Given the description of an element on the screen output the (x, y) to click on. 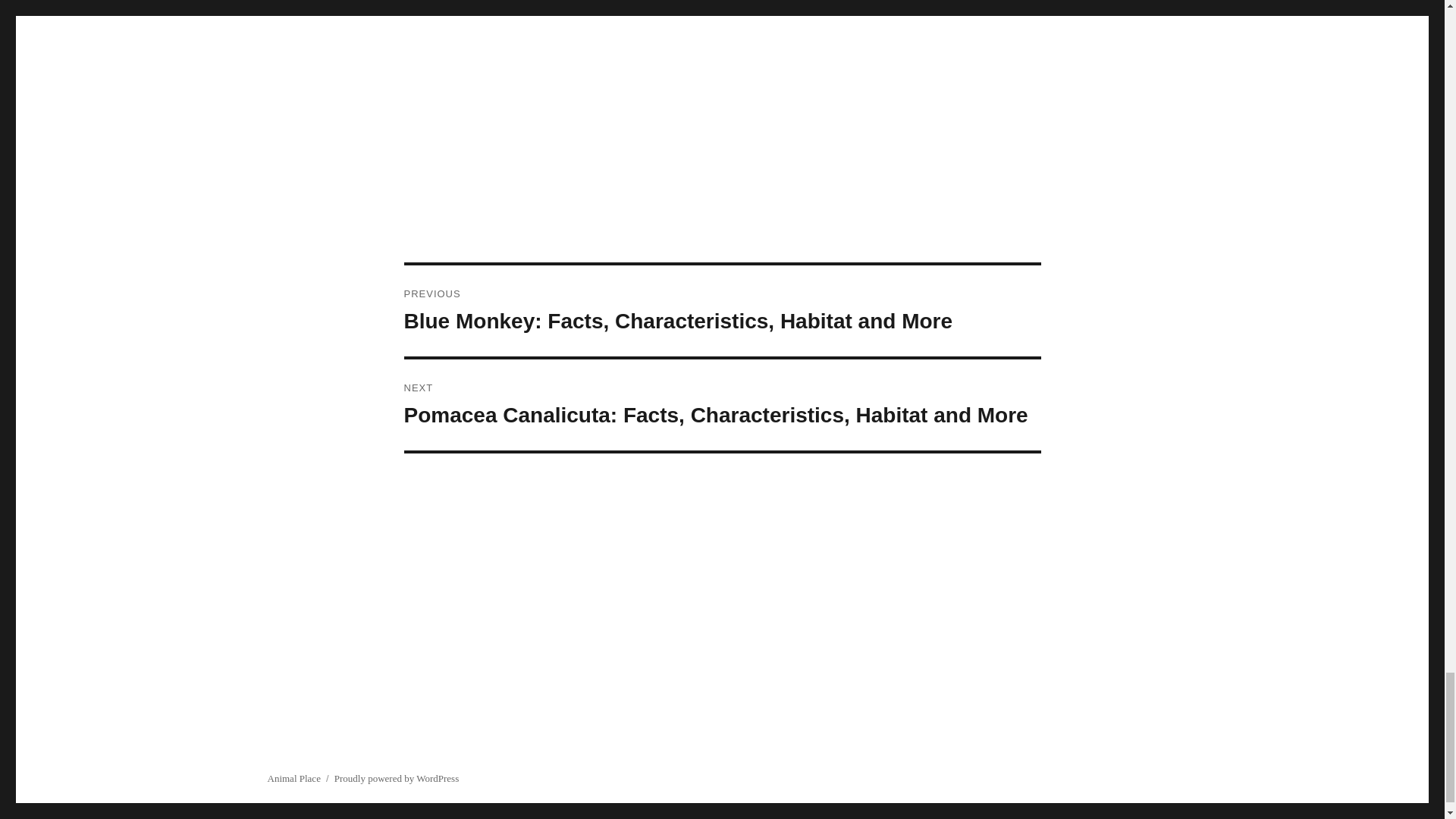
Proudly powered by WordPress (396, 778)
Animal Place (293, 778)
